Given the description of an element on the screen output the (x, y) to click on. 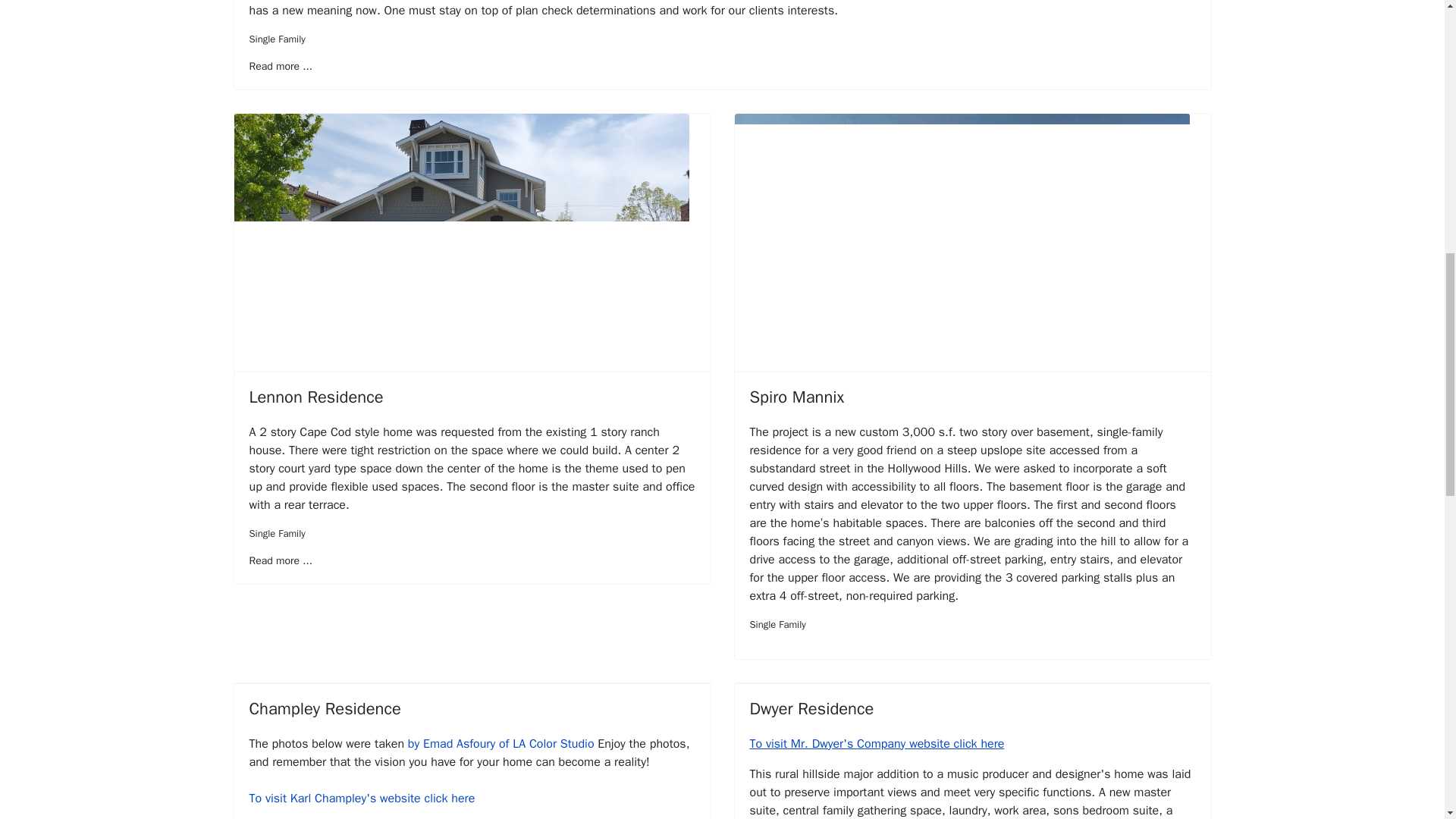
Read more ... (279, 65)
Category: Single Family (777, 624)
Lennon Residence (315, 396)
Category: Single Family (276, 533)
Category: Single Family (276, 38)
Read more ... (279, 560)
